Given the description of an element on the screen output the (x, y) to click on. 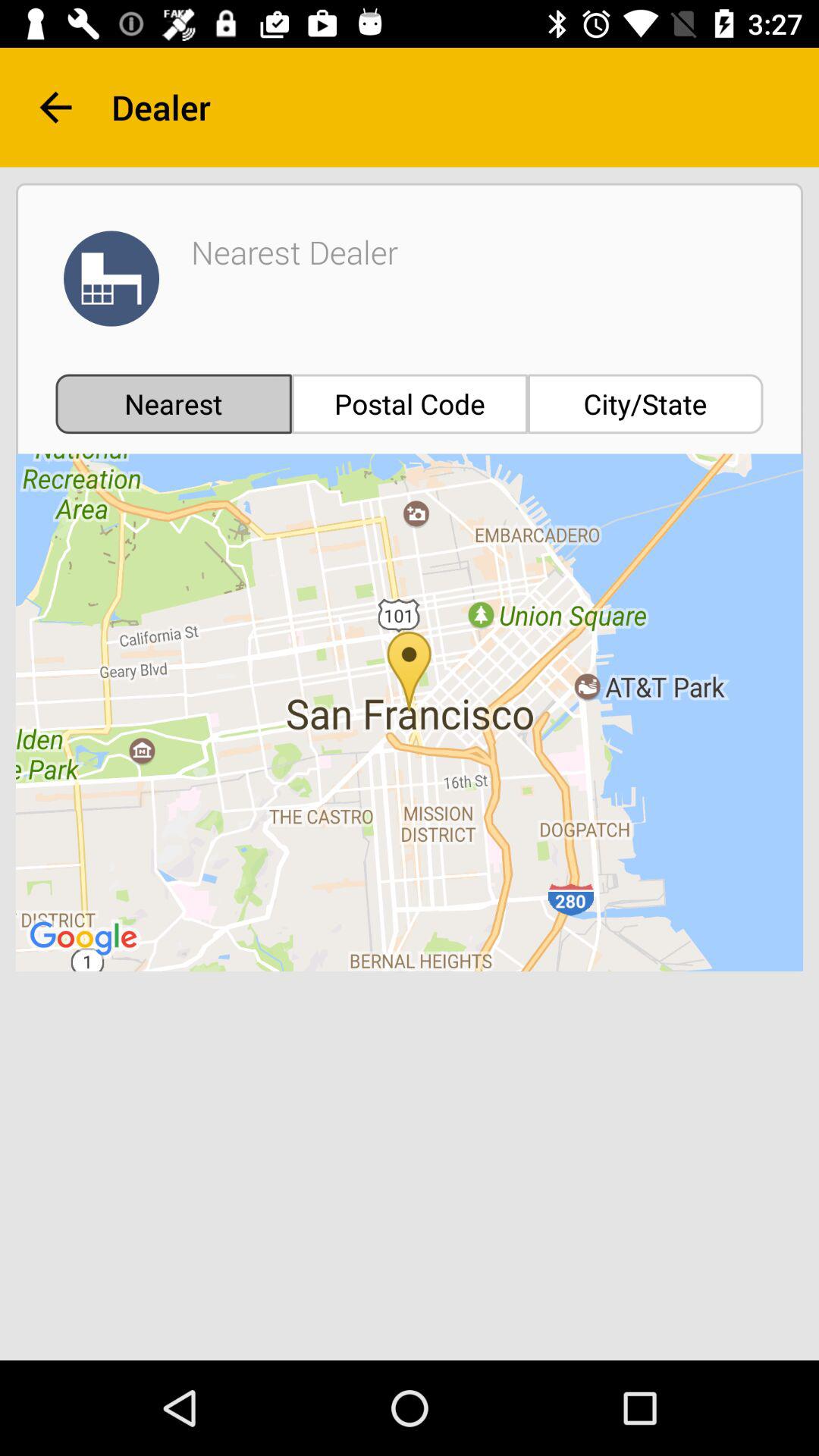
click icon at the center (409, 712)
